Given the description of an element on the screen output the (x, y) to click on. 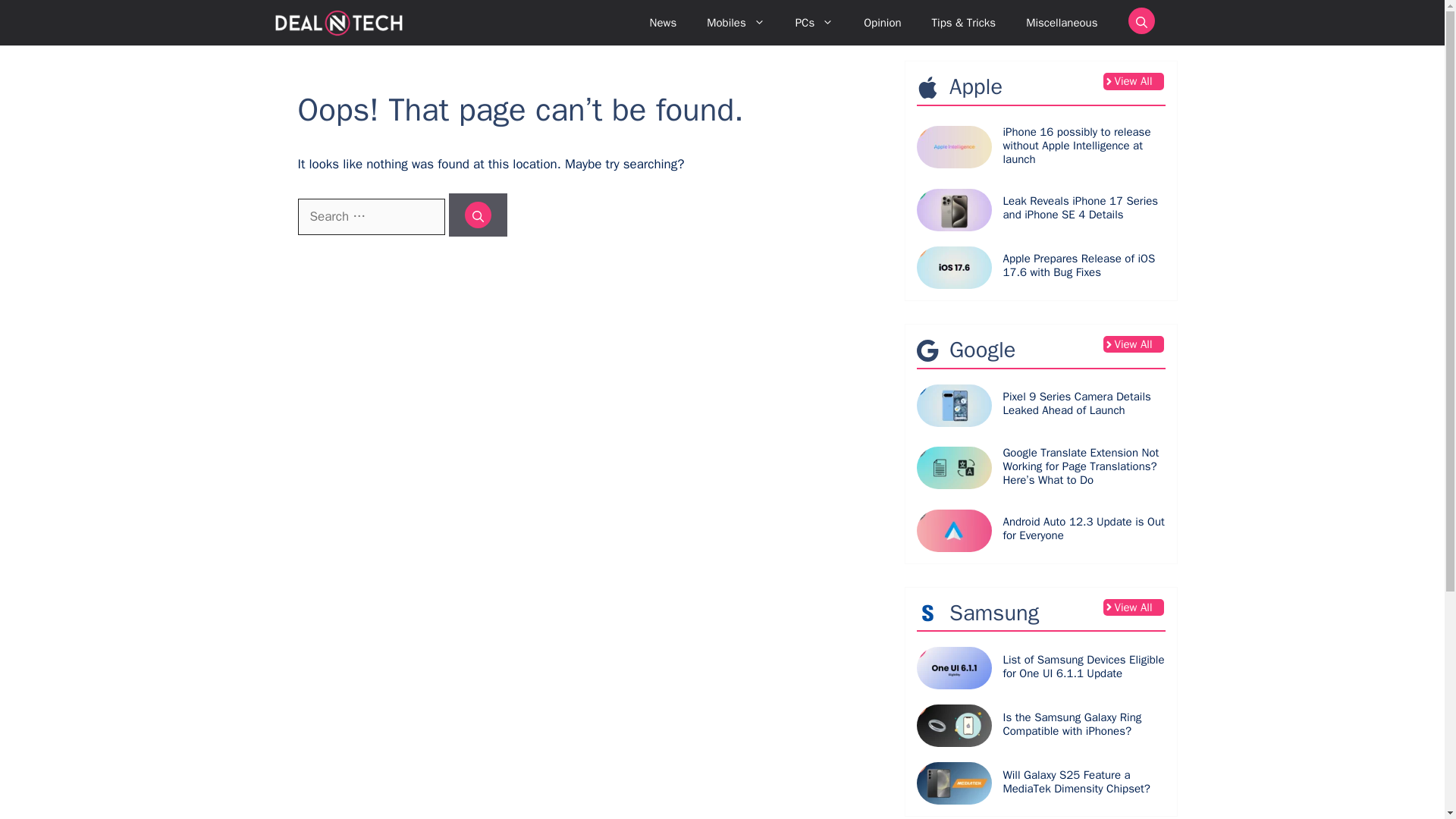
PCs (814, 22)
Search for: (370, 217)
Miscellaneous (1061, 22)
Mobiles (735, 22)
Opinion (881, 22)
Deal N Tech (339, 22)
News (663, 22)
View All (1132, 81)
